Given the description of an element on the screen output the (x, y) to click on. 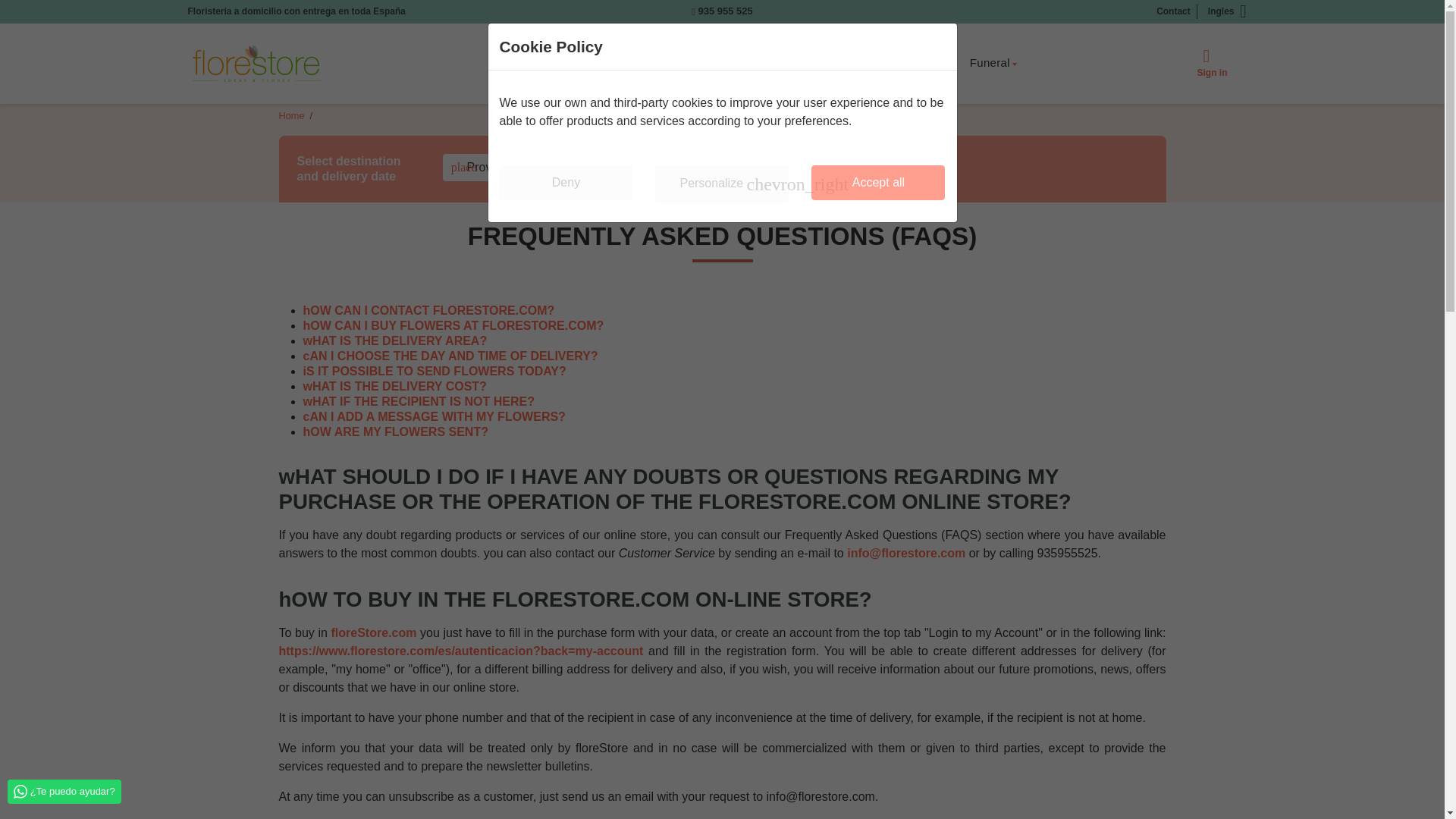
Sunflowers (529, 63)
Saint George (606, 62)
Plants (529, 63)
Occasions (770, 62)
Contact (831, 62)
Eternal Flowers (1173, 10)
Funeral (916, 62)
Tulips (992, 62)
Accept all (663, 62)
Plants (877, 182)
Deny (770, 62)
Flowers (565, 182)
Sunflowers (714, 62)
Flowers (606, 62)
